Given the description of an element on the screen output the (x, y) to click on. 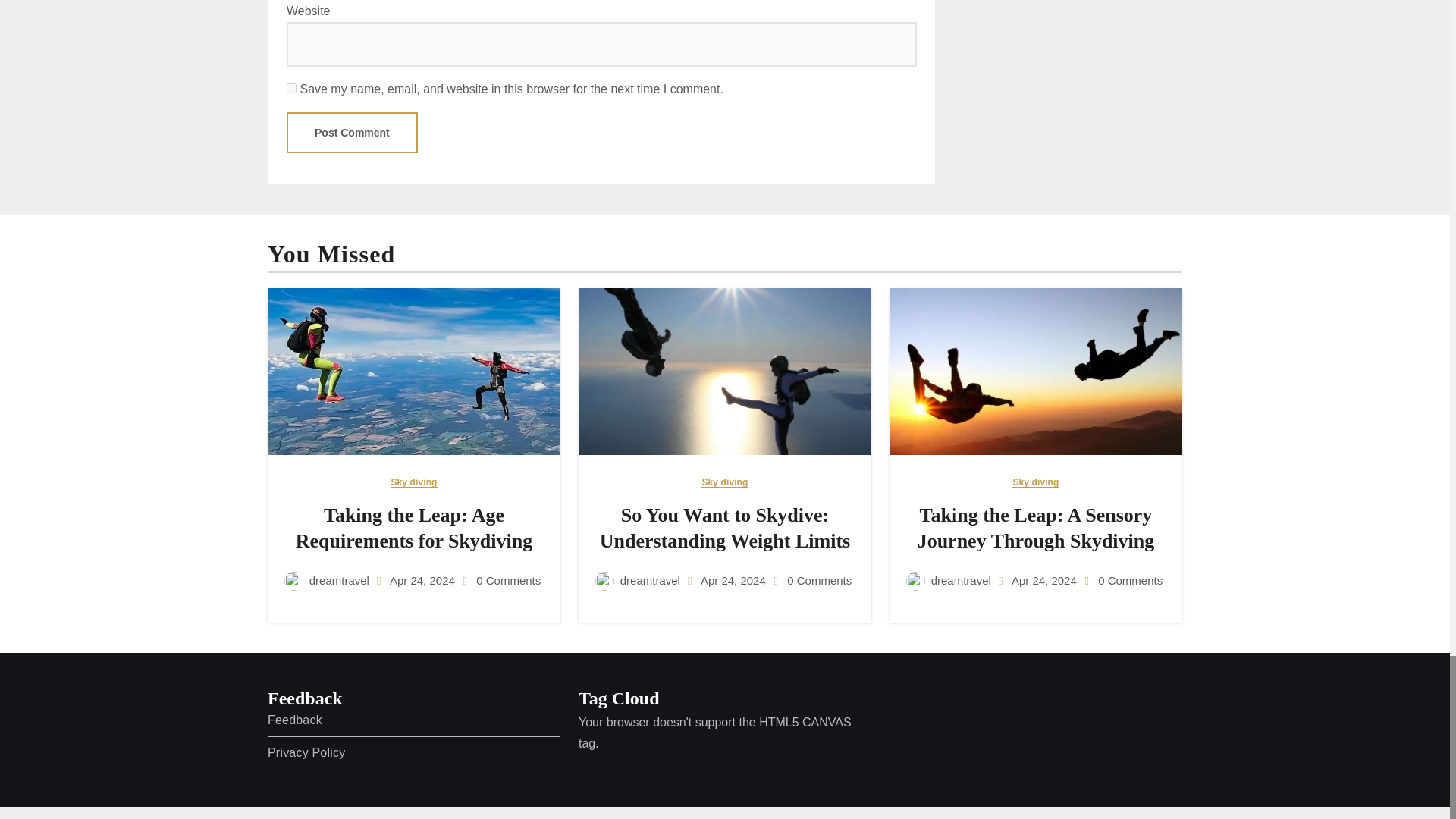
Post Comment (351, 132)
yes (291, 88)
